Given the description of an element on the screen output the (x, y) to click on. 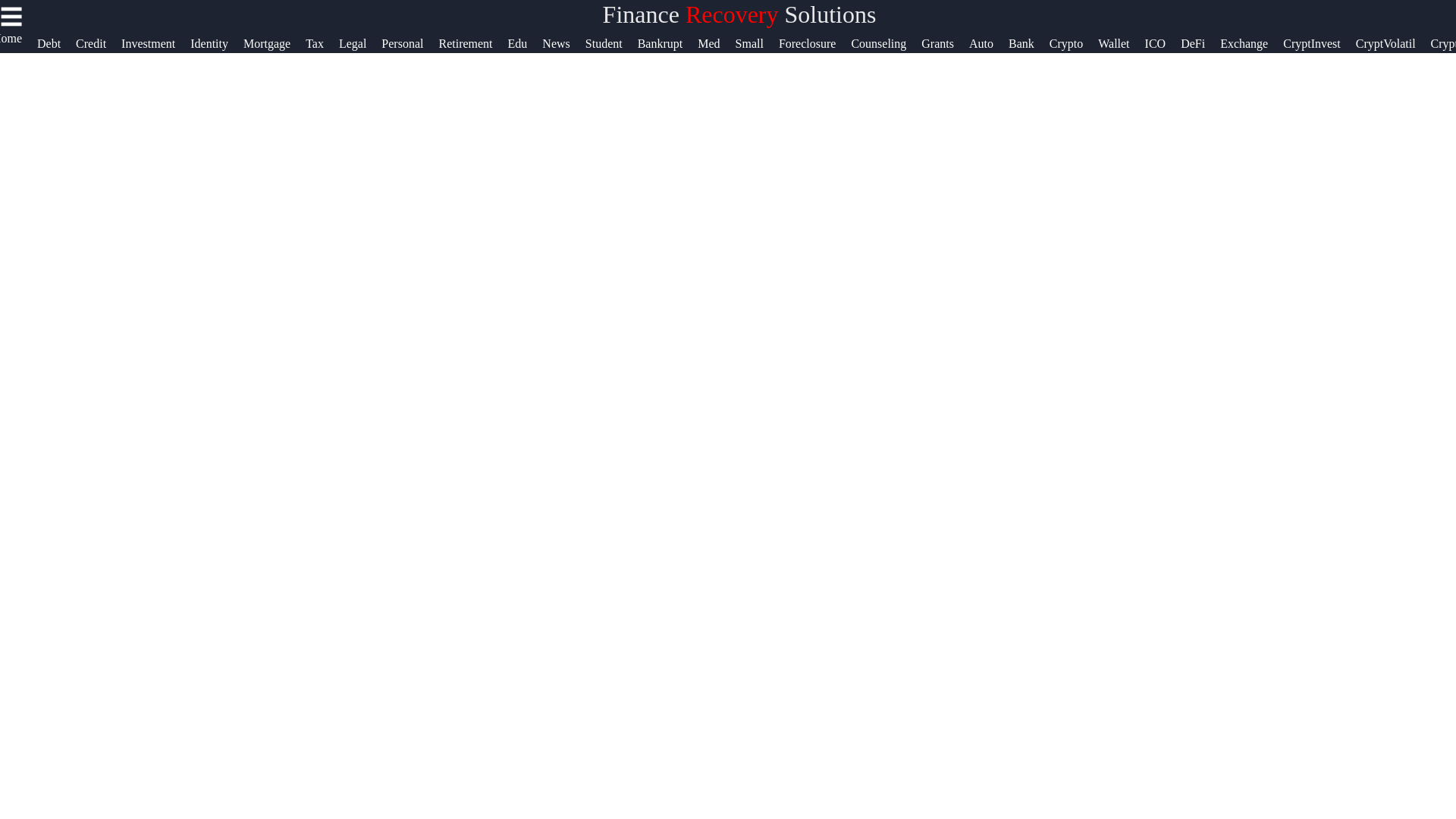
Finance Recovery Solutions (739, 13)
